Given the description of an element on the screen output the (x, y) to click on. 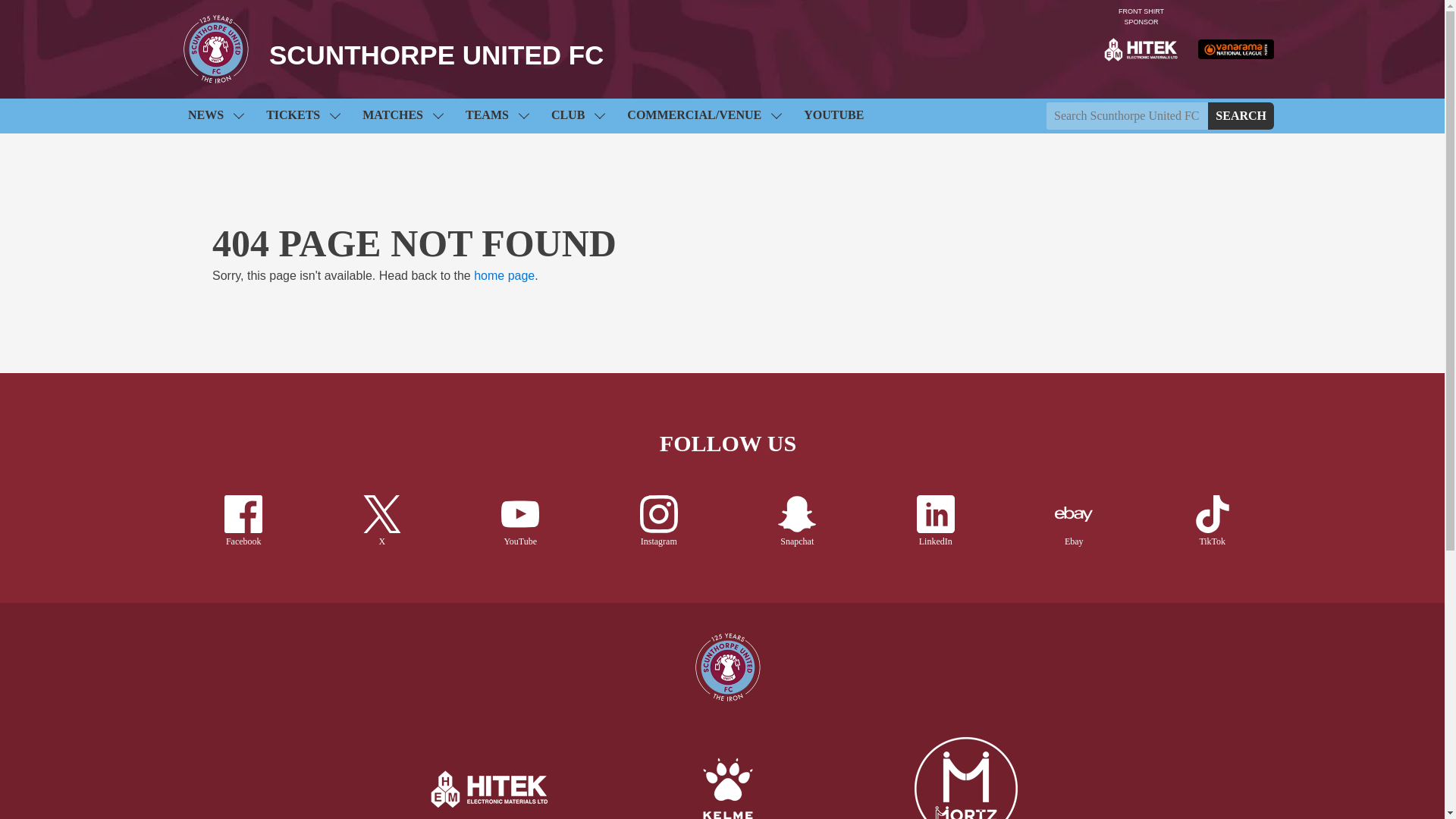
MATCHES (402, 115)
Link to News (215, 115)
Scunthorpe United FC badge - Link to home (216, 49)
TICKETS (302, 115)
NEWS (215, 115)
Link to Matches (402, 115)
FRONT SHIRT SPONSOR (1141, 48)
Link to Tickets (302, 115)
CLUB (577, 115)
TEAMS (497, 115)
